Given the description of an element on the screen output the (x, y) to click on. 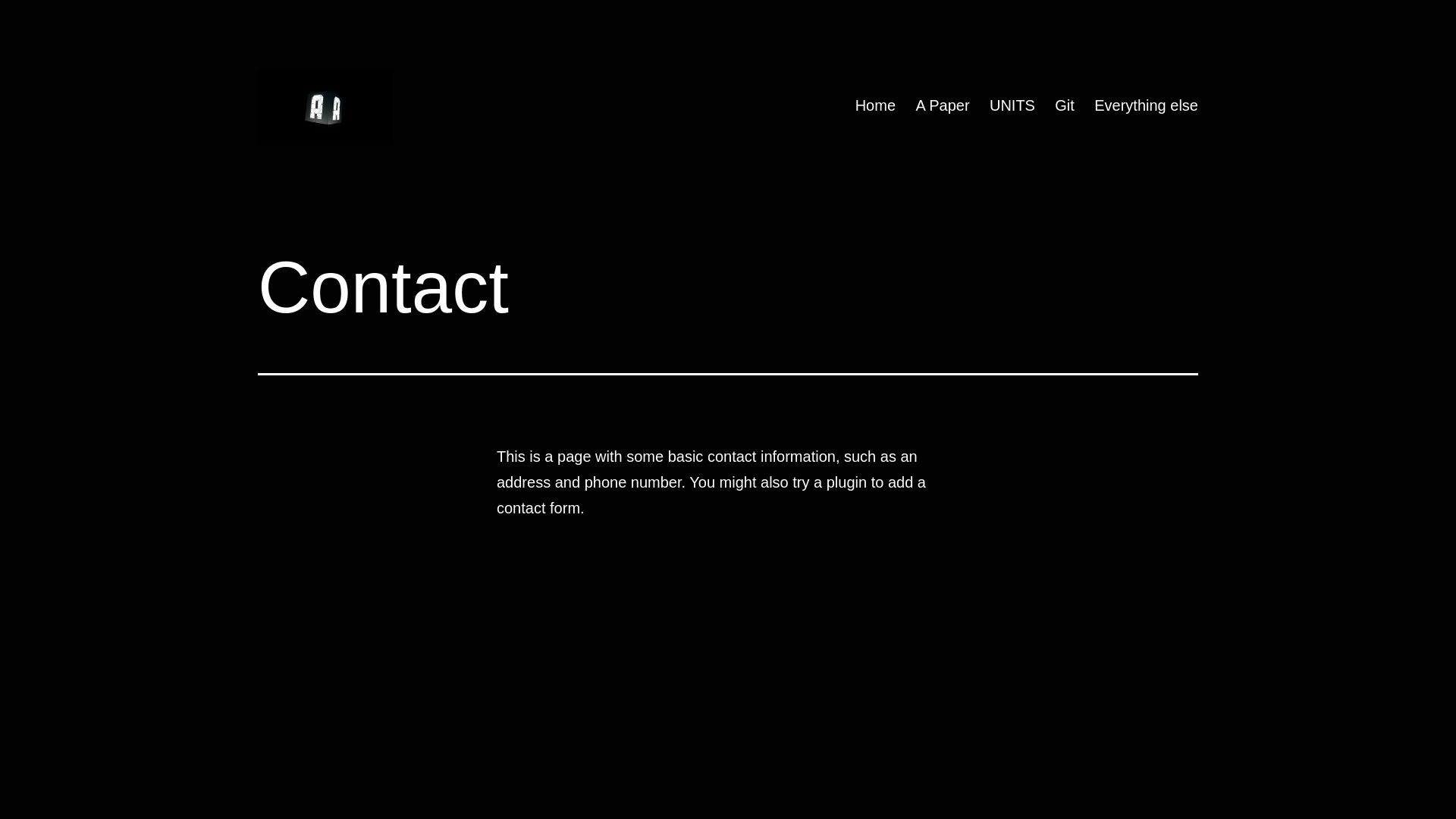
UNITS Element type: text (1011, 104)
Git Element type: text (1064, 104)
A Paper Element type: text (942, 104)
Home Element type: text (874, 104)
Everything else Element type: text (1146, 104)
